Given the description of an element on the screen output the (x, y) to click on. 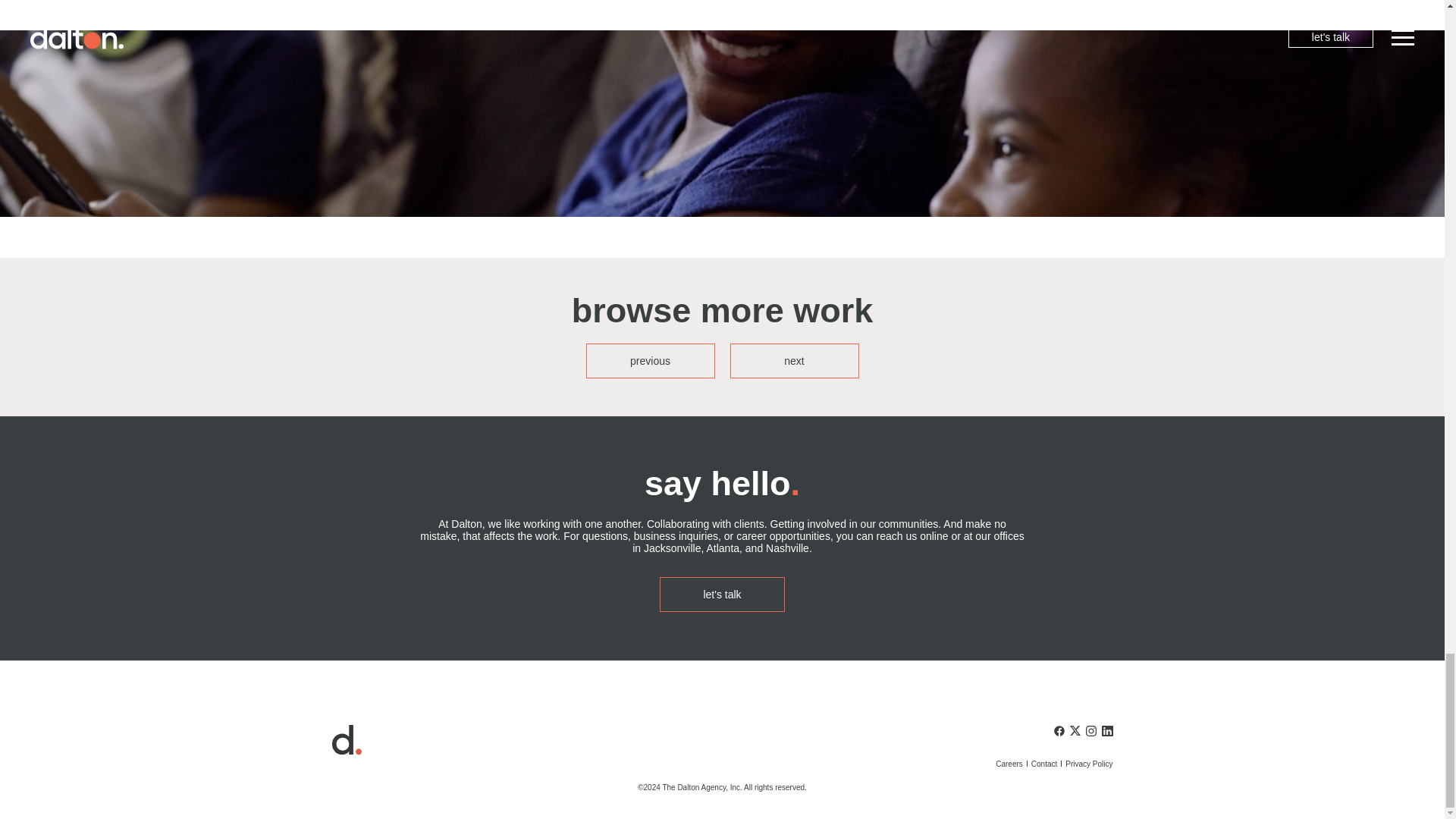
Privacy Policy (1088, 764)
next (794, 360)
let's talk (721, 594)
Careers (1009, 764)
Contact (1043, 764)
previous (649, 360)
